Given the description of an element on the screen output the (x, y) to click on. 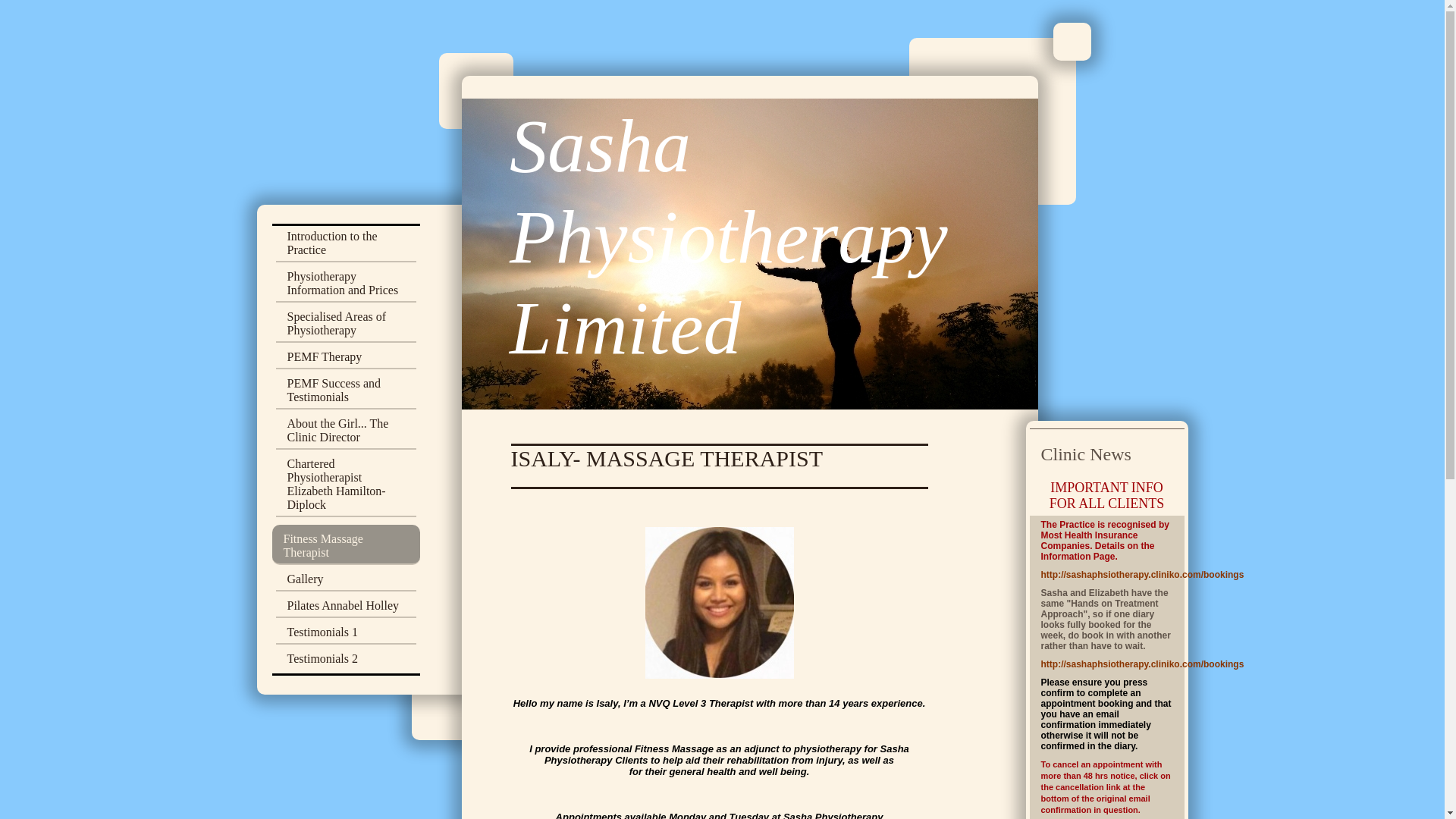
About the Girl... The Clinic Director (346, 432)
Physiotherapy Information and Prices (346, 286)
Specialised Areas of Physiotherapy (346, 326)
PEMF Success and Testimonials (346, 392)
Pilates Annabel Holley (346, 608)
Introduction to the Practice (346, 246)
Testimonials 2 (346, 658)
Testimonials 1 (346, 634)
Fitness Massage Therapist (344, 544)
Gallery (346, 581)
